Given the description of an element on the screen output the (x, y) to click on. 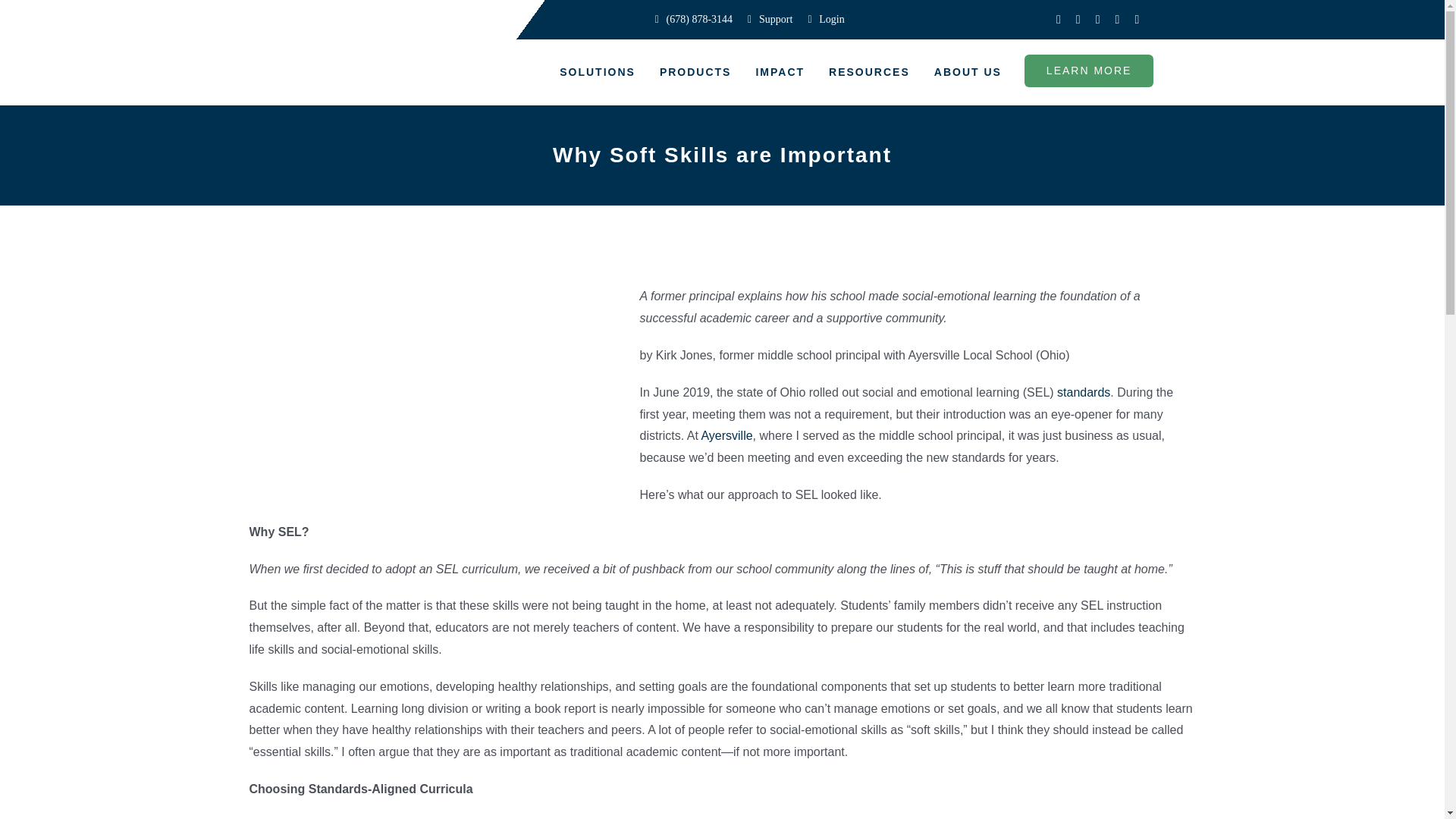
IMPACT (780, 72)
Support (770, 19)
Login (825, 19)
SOLUTIONS (597, 72)
RESOURCES (869, 72)
PRODUCTS (695, 72)
